Given the description of an element on the screen output the (x, y) to click on. 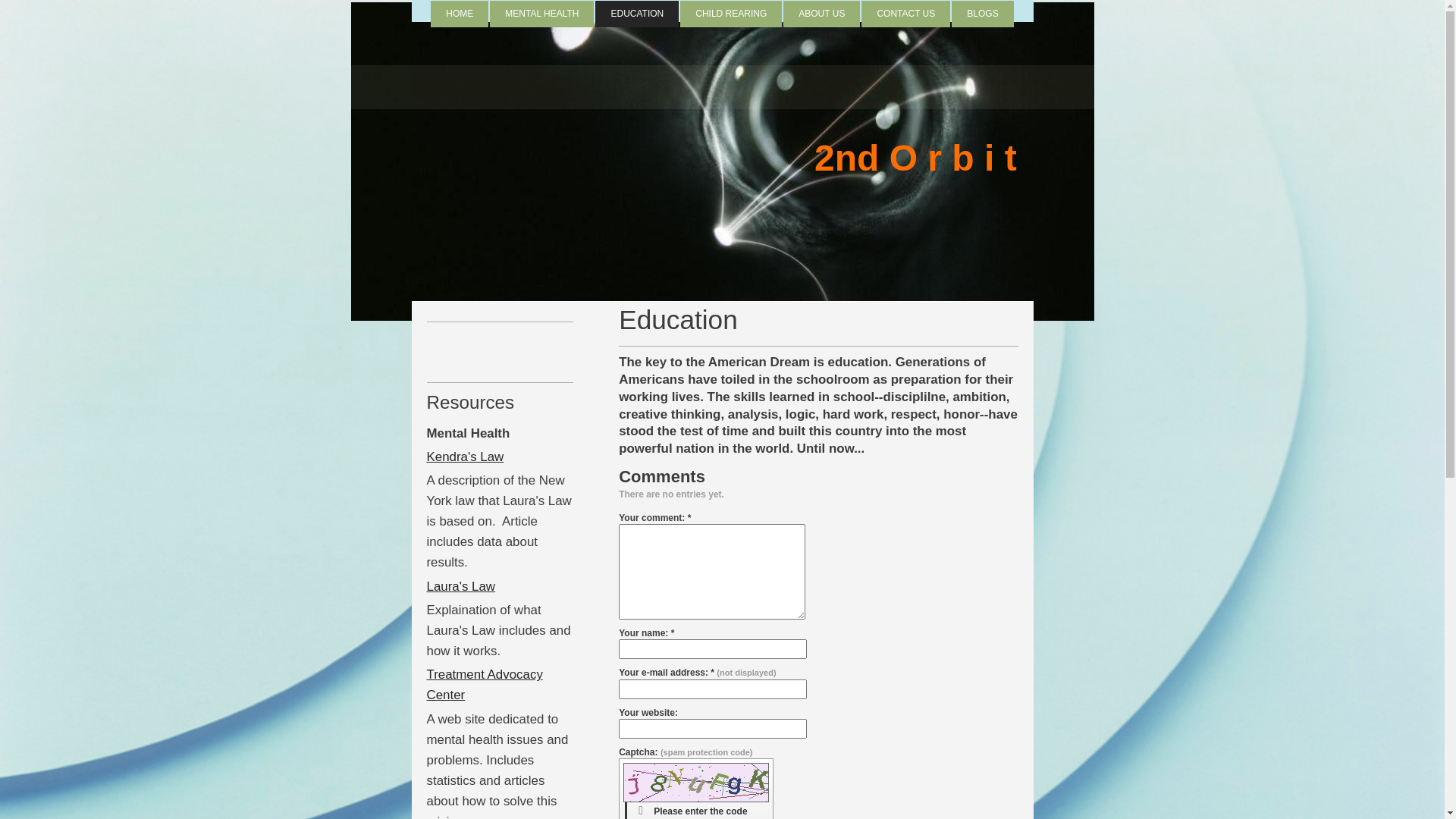
ABOUT US Element type: text (821, 13)
MENTAL HEALTH Element type: text (541, 13)
CONTACT US Element type: text (905, 13)
Treatment Advocacy Center Element type: text (484, 684)
CHILD REARING Element type: text (730, 13)
Kendra's Law Element type: text (464, 456)
BLOGS Element type: text (982, 13)
Laura's Law Element type: text (460, 586)
HOME Element type: text (459, 13)
EDUCATION Element type: text (636, 13)
